Given the description of an element on the screen output the (x, y) to click on. 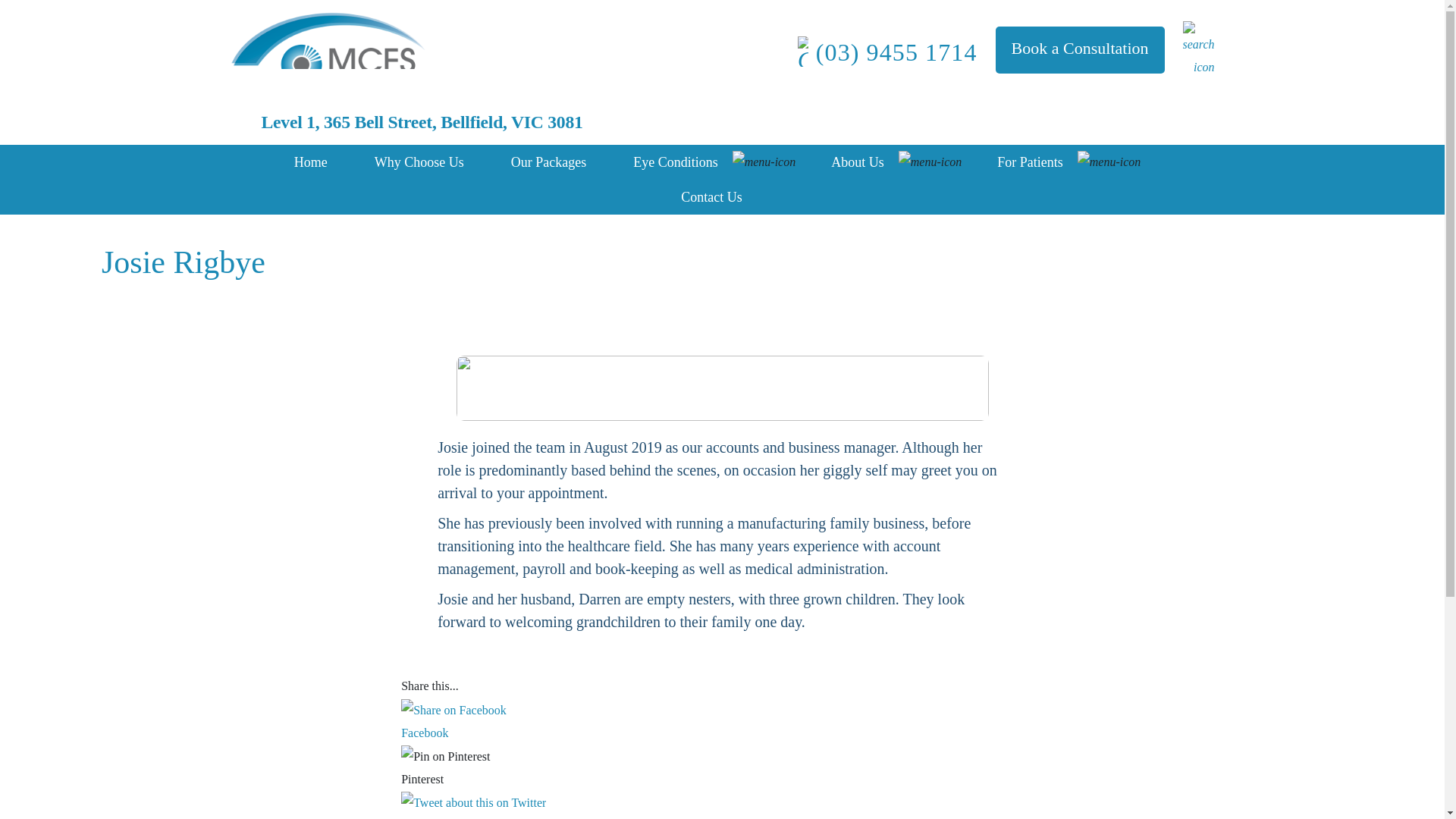
Call (890, 52)
Why Choose Us (419, 161)
Twitter (722, 807)
Pinterest (445, 756)
Facebook (453, 710)
For Patients (1029, 161)
Eye Conditions (675, 161)
Book a Consultation (1079, 49)
Facebook (722, 732)
Book a Consultation (1079, 49)
